Given the description of an element on the screen output the (x, y) to click on. 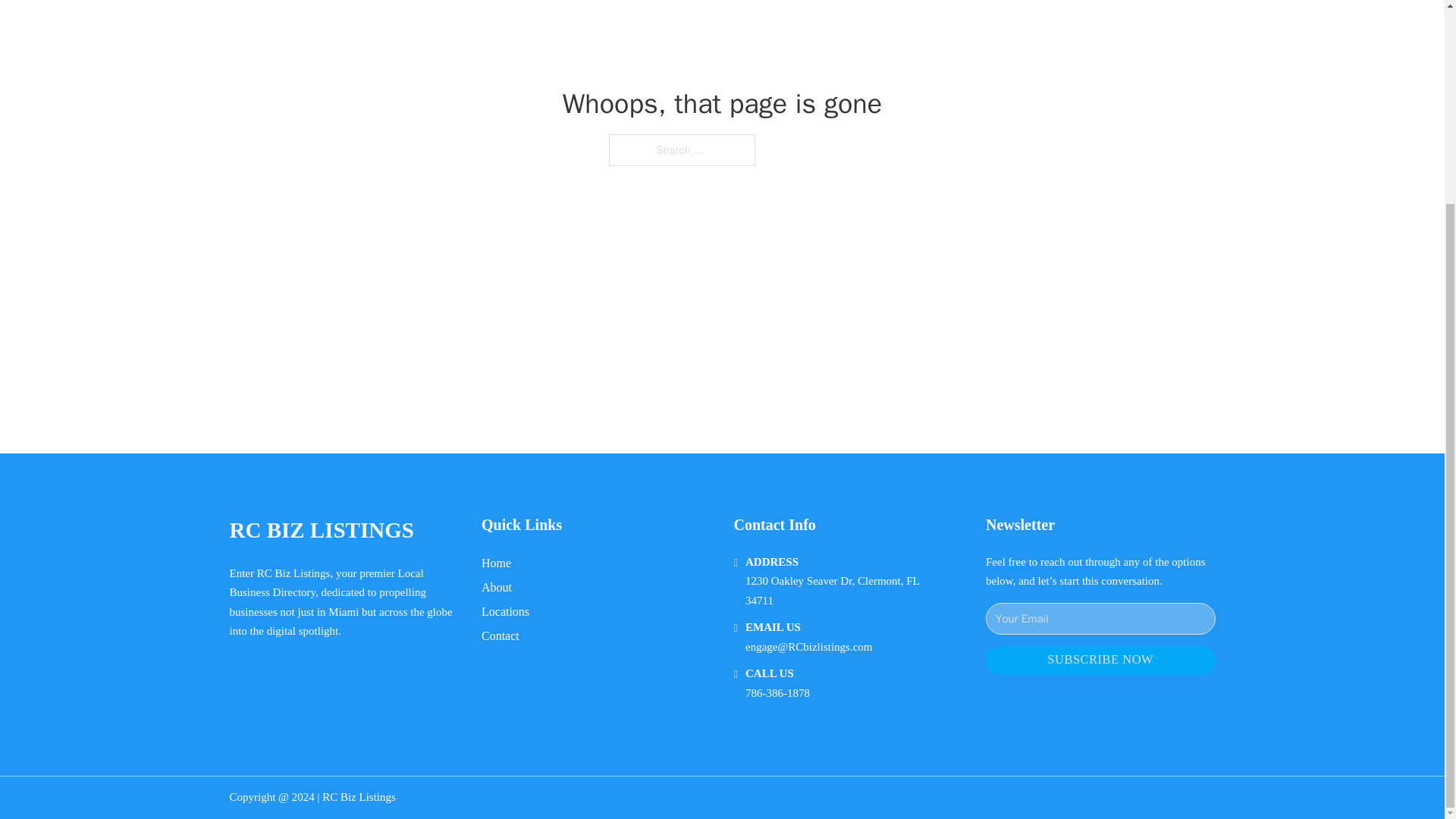
Locations (505, 611)
Contact (500, 635)
786-386-1878 (777, 693)
RC BIZ LISTINGS (320, 529)
About (496, 587)
Home (496, 562)
SUBSCRIBE NOW (1100, 660)
